Given the description of an element on the screen output the (x, y) to click on. 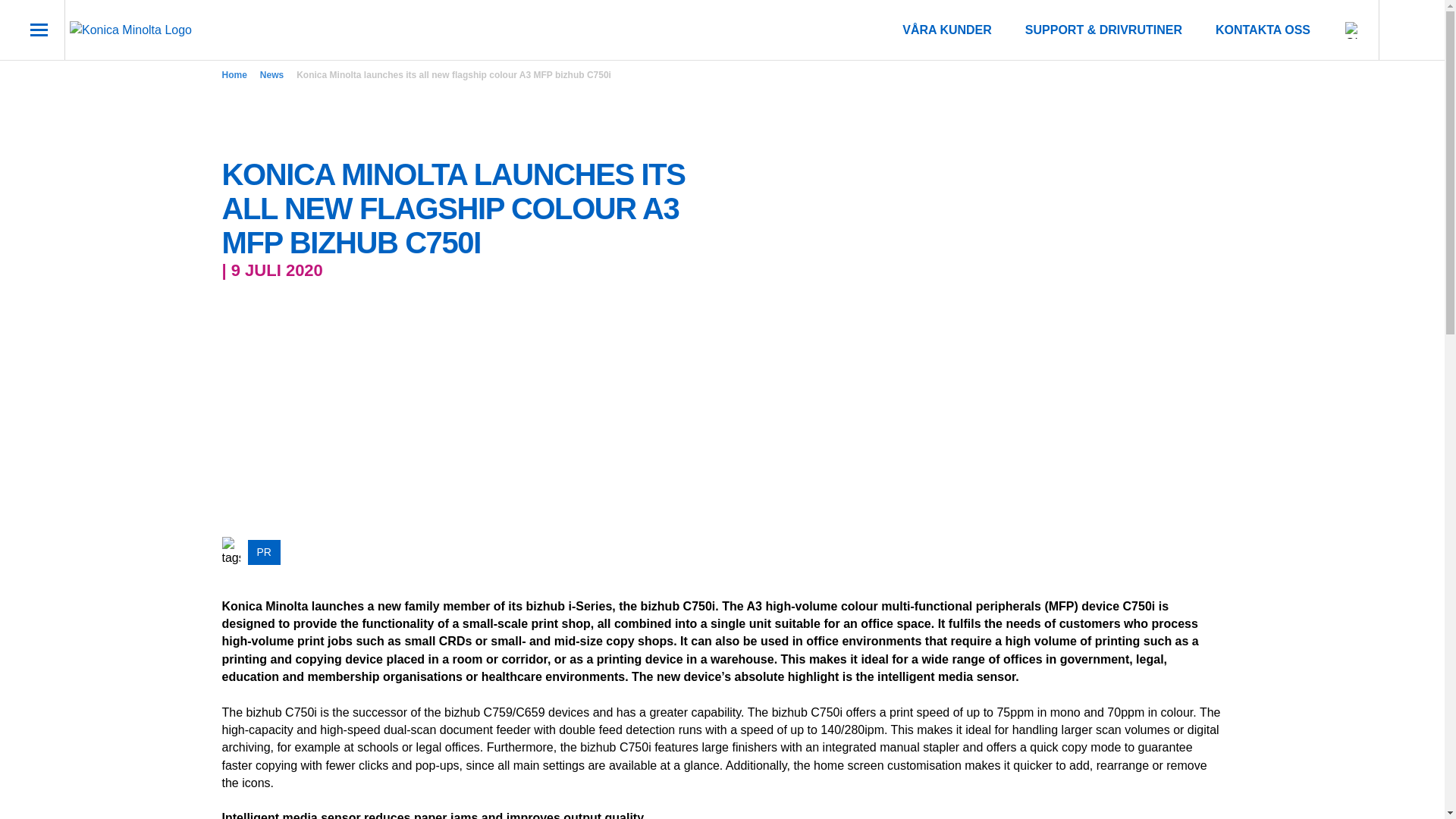
Kontakta Oss (1262, 30)
Search (1404, 30)
KONTAKTA OSS (1262, 30)
